Given the description of an element on the screen output the (x, y) to click on. 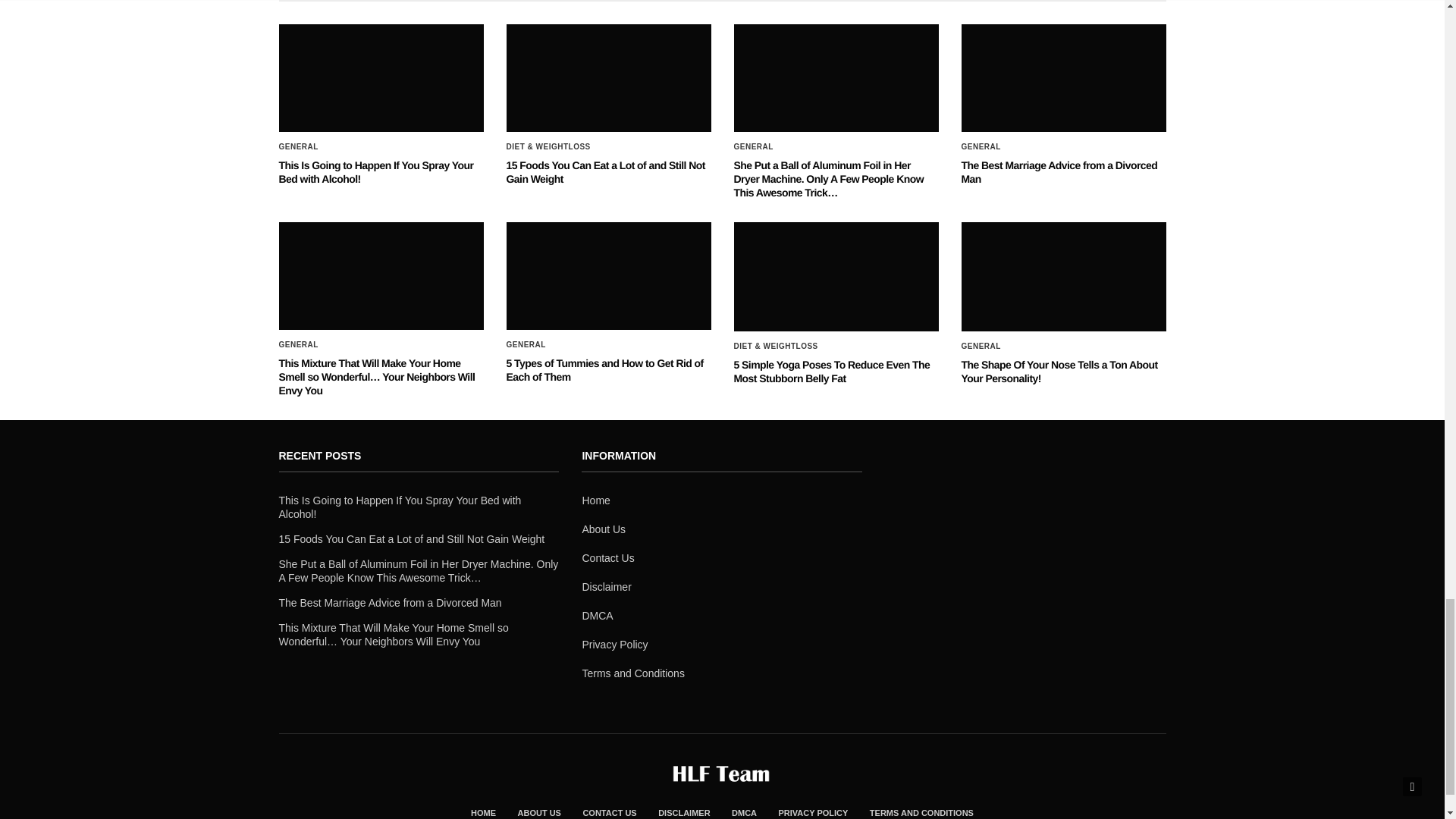
This Is Going to Happen If You Spray Your Bed with Alcohol! (376, 171)
This Is Going to Happen If You Spray Your Bed with Alcohol! (381, 77)
GENERAL (980, 146)
The Best Marriage Advice from a Divorced Man (1058, 171)
This Is Going to Happen If You Spray Your Bed with Alcohol! (376, 171)
General (753, 146)
GENERAL (298, 146)
GENERAL (753, 146)
General (298, 146)
15 Foods You Can Eat a Lot of and Still Not Gain Weight (605, 171)
15 Foods You Can Eat a Lot of and Still Not Gain Weight (608, 77)
15 Foods You Can Eat a Lot of and Still Not Gain Weight (605, 171)
The Best Marriage Advice from a Divorced Man (1063, 77)
